Given the description of an element on the screen output the (x, y) to click on. 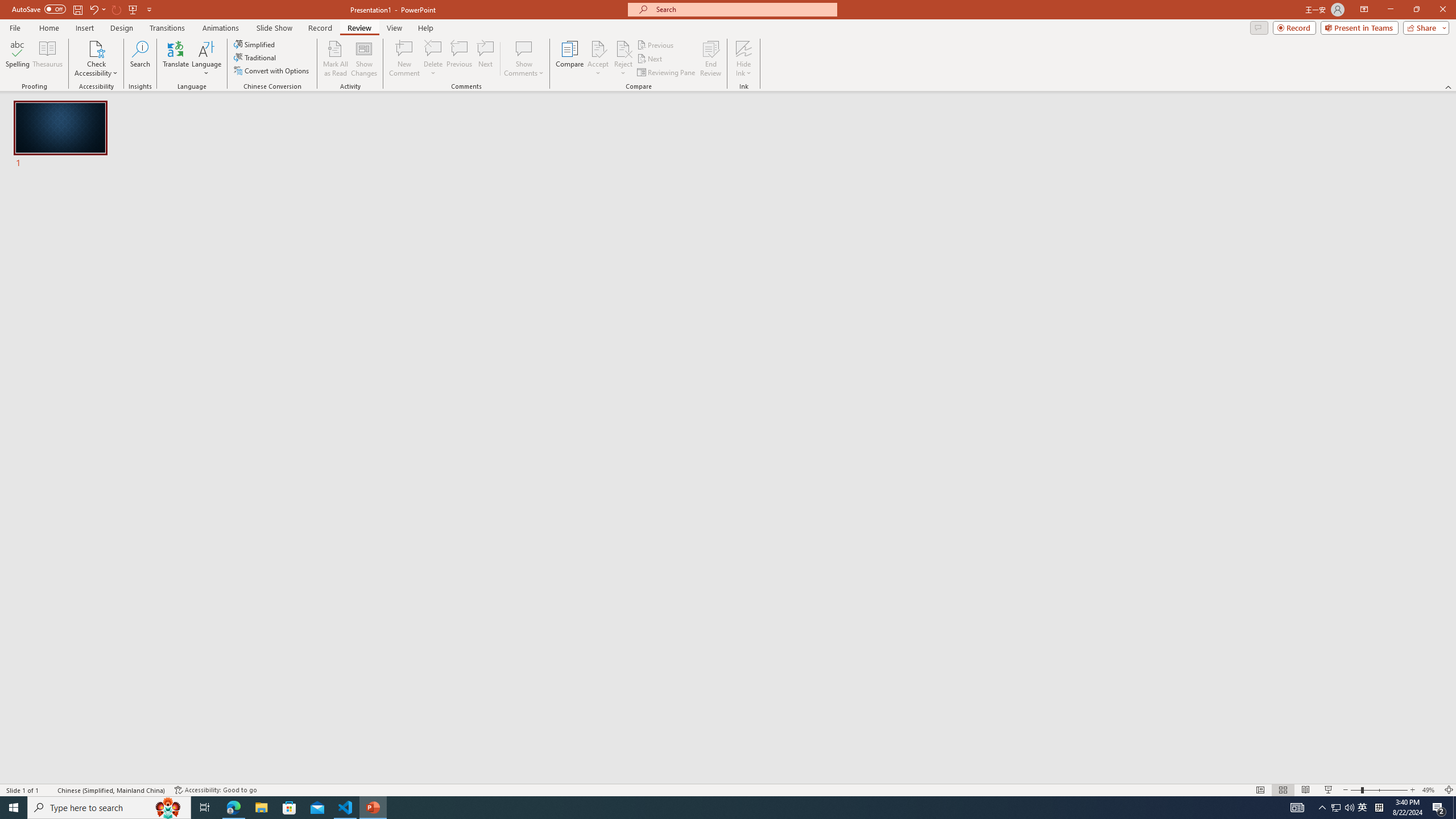
Spell Check  (49, 790)
